Given the description of an element on the screen output the (x, y) to click on. 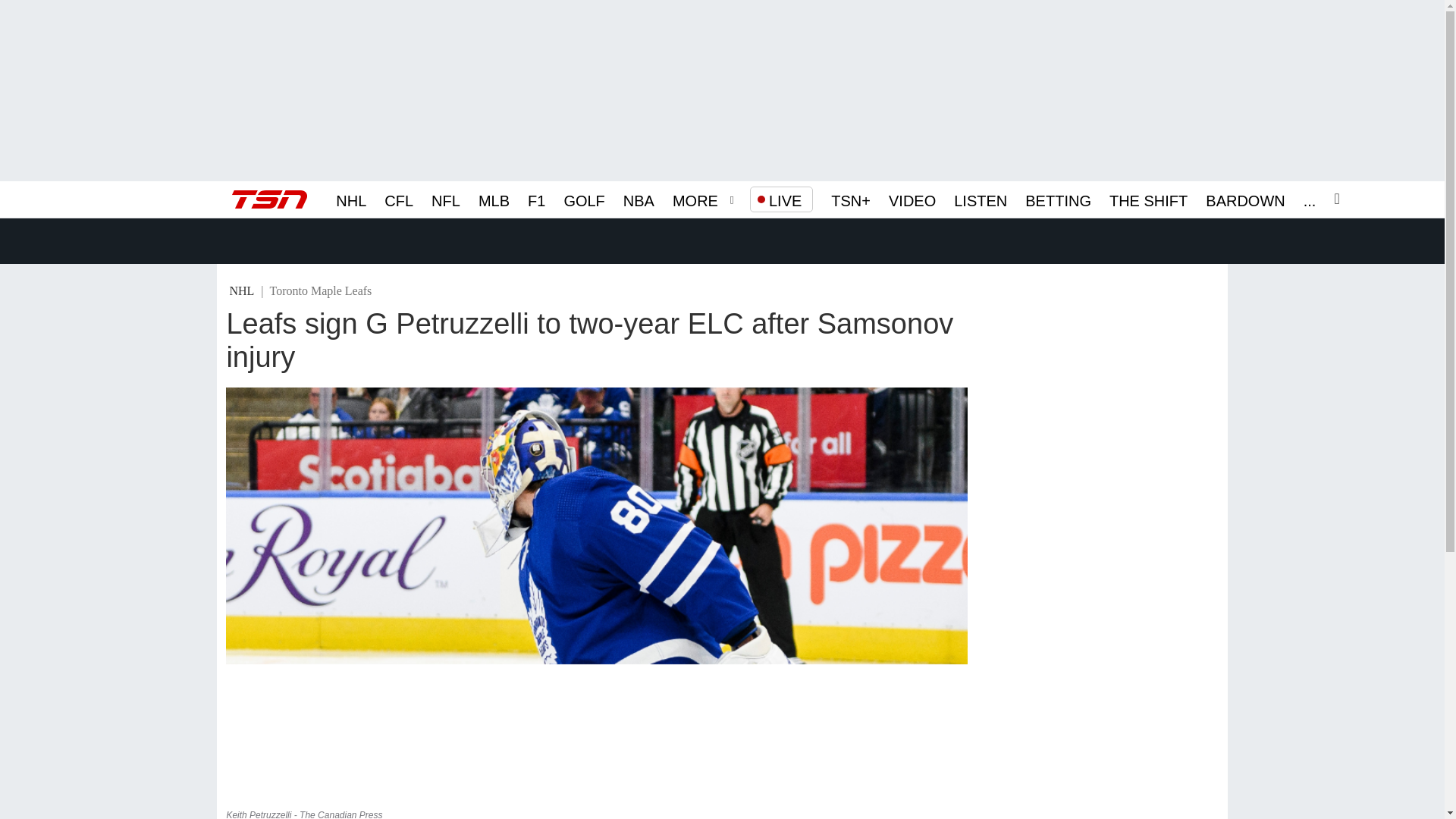
MLB (494, 199)
TSN (269, 199)
MORE (694, 199)
NHL (351, 199)
GOLF (583, 199)
NFL (445, 199)
NBA (638, 199)
CFL (398, 199)
